Given the description of an element on the screen output the (x, y) to click on. 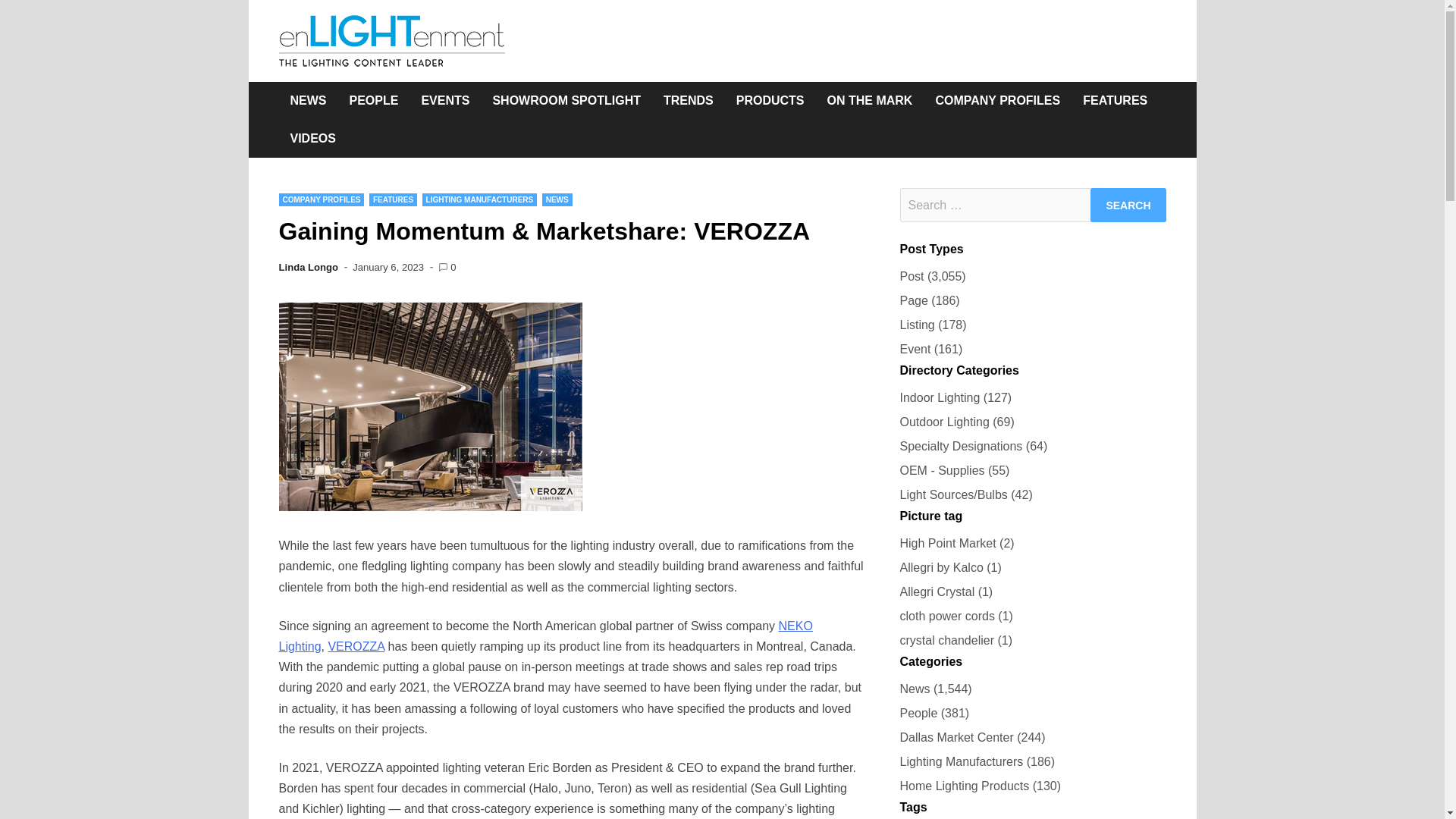
FEATURES (392, 199)
COMPANY PROFILES (997, 100)
January 6, 2023 (387, 266)
LIGHTING MANUFACTURERS (479, 199)
VEROZZA (355, 645)
SHOWROOM SPOTLIGHT (566, 100)
EVENTS (444, 100)
PRODUCTS (770, 100)
COMPANY PROFILES (322, 199)
Search (1128, 204)
TRENDS (688, 100)
PEOPLE (373, 100)
NEWS (556, 199)
ON THE MARK (869, 100)
Search (1128, 204)
